Given the description of an element on the screen output the (x, y) to click on. 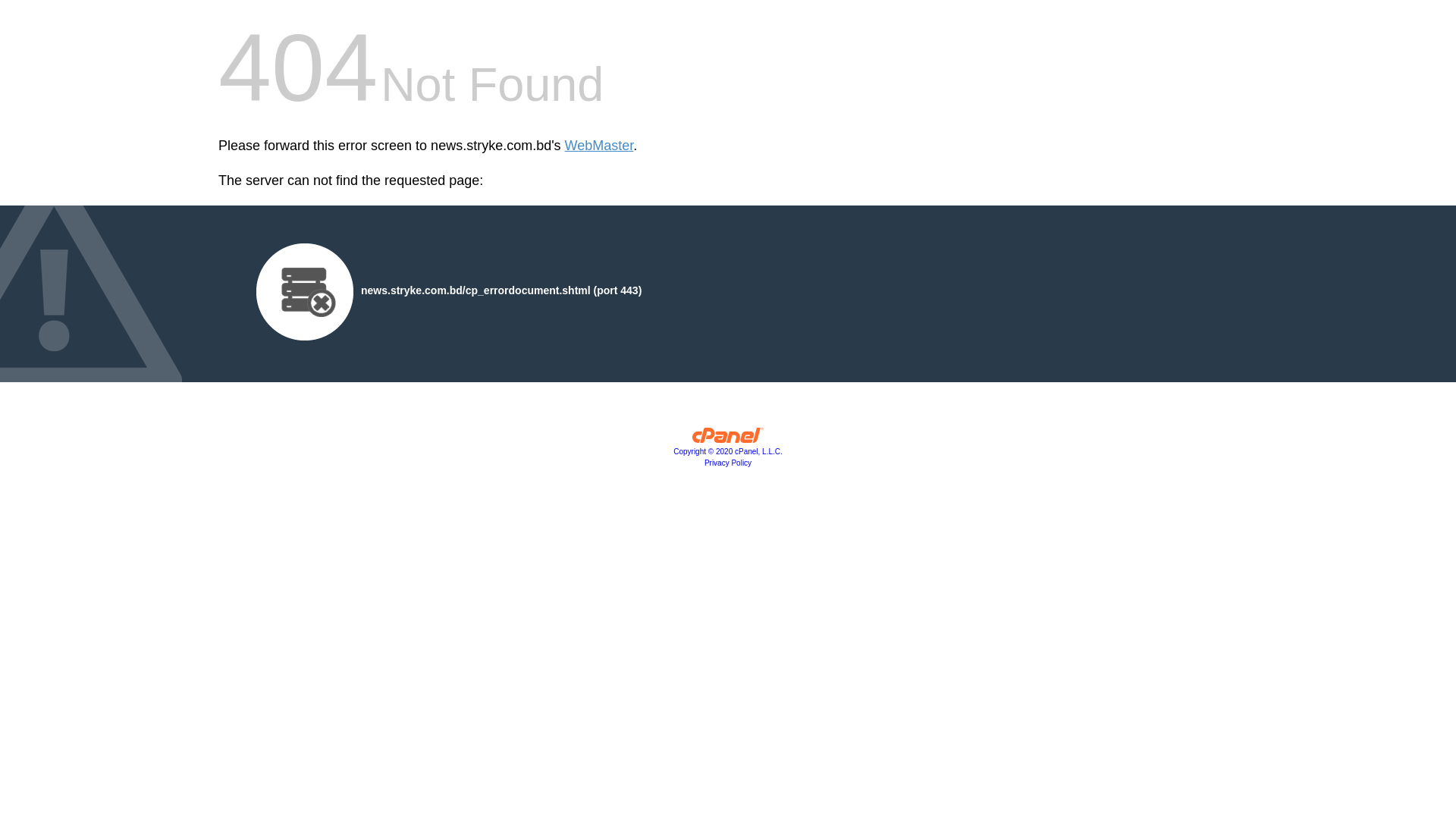
Privacy Policy Element type: text (727, 462)
WebMaster Element type: text (598, 145)
cPanel, Inc. Element type: hover (728, 439)
